Given the description of an element on the screen output the (x, y) to click on. 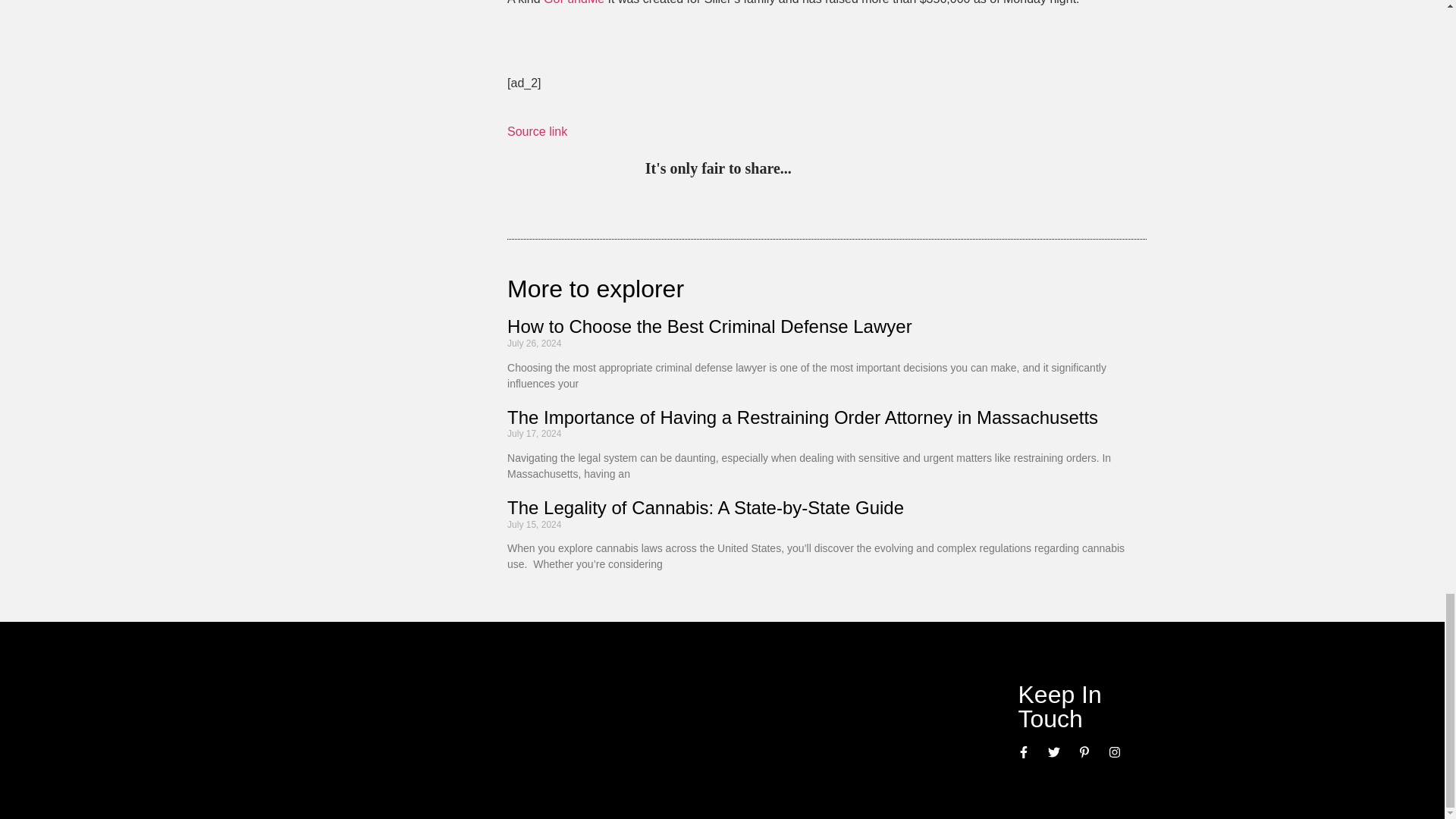
google (900, 169)
twitter (837, 169)
GoFundMe (573, 2)
print (993, 169)
linkedin (869, 169)
facebook (931, 169)
Source link (536, 131)
email (962, 169)
pinterest (807, 169)
